Given the description of an element on the screen output the (x, y) to click on. 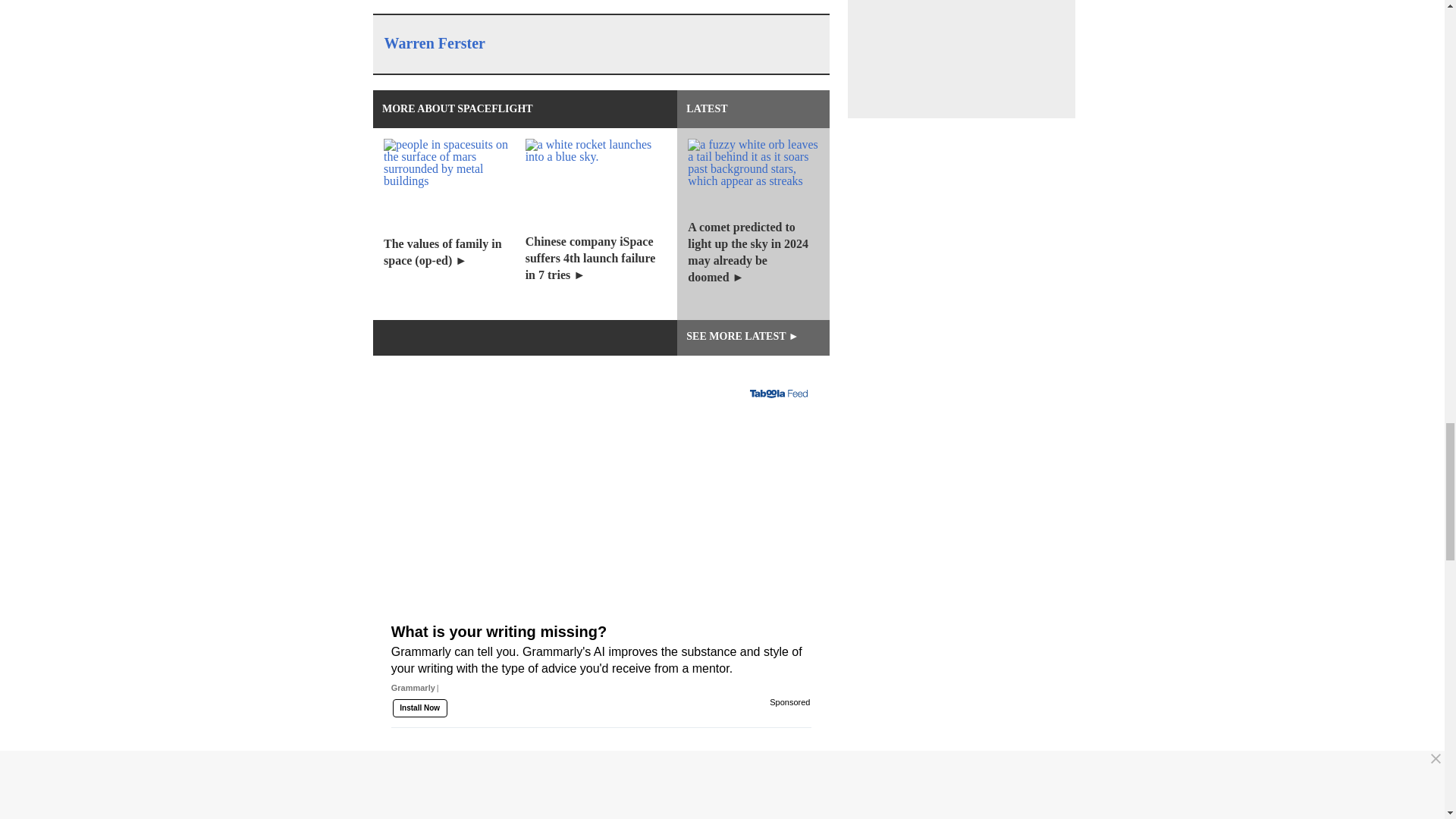
What is your writing missing? (600, 686)
What is your writing missing? (600, 535)
